Given the description of an element on the screen output the (x, y) to click on. 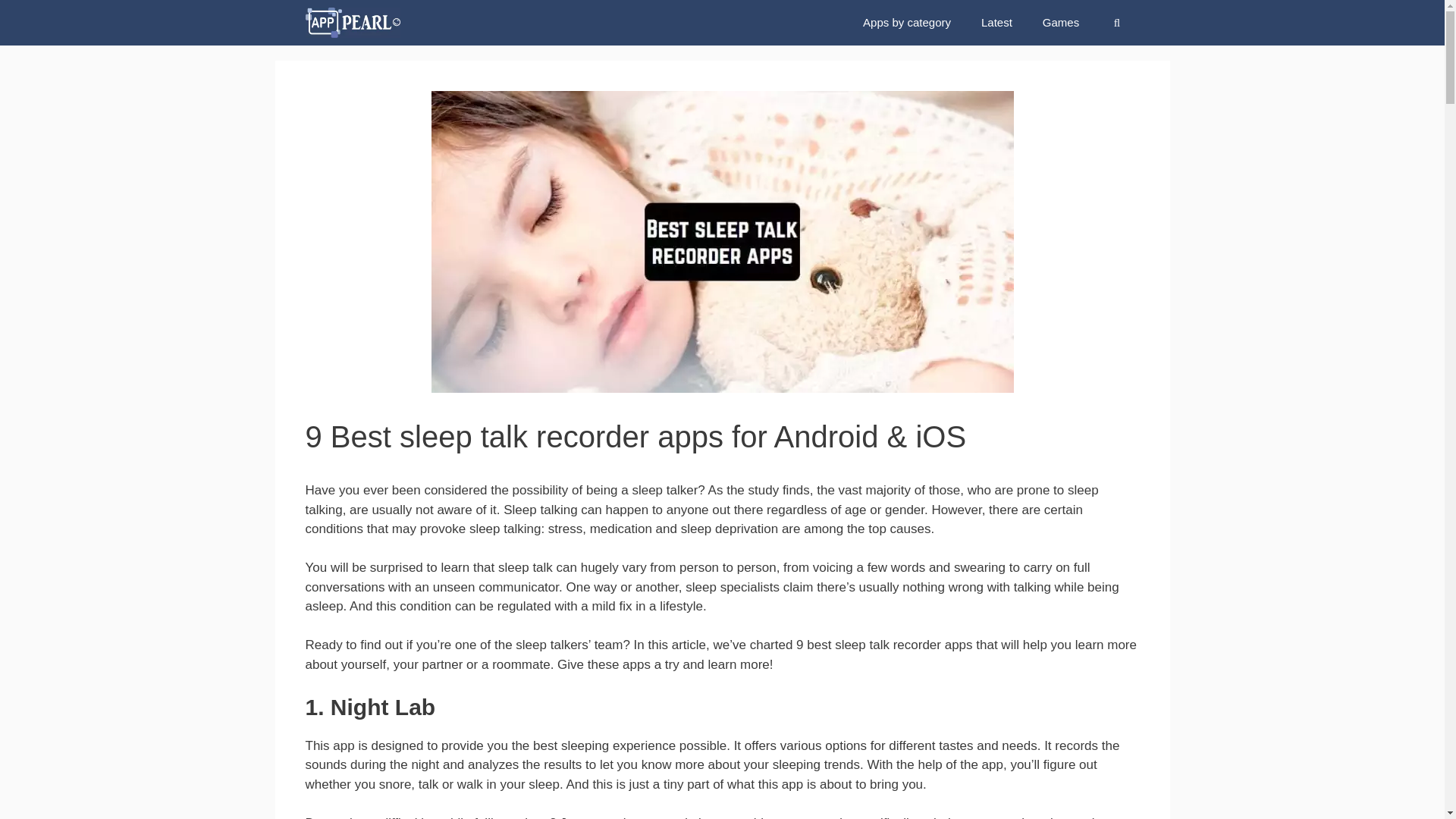
Games (1060, 22)
Apps by category (906, 22)
Latest (996, 22)
